Given the description of an element on the screen output the (x, y) to click on. 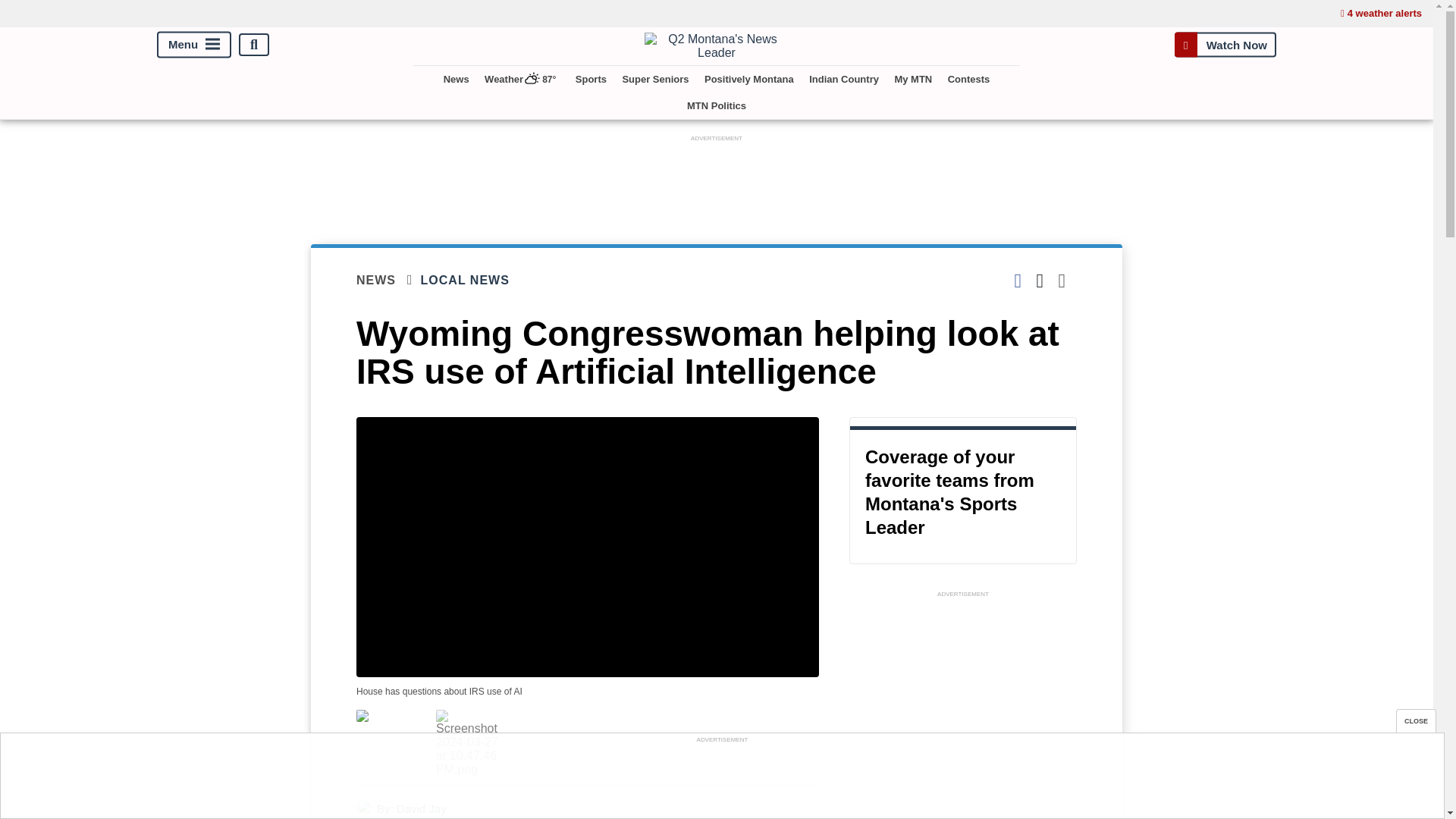
3rd party ad content (962, 710)
3rd party ad content (716, 179)
Watch Now (1224, 43)
3rd party ad content (721, 780)
Menu (194, 44)
